Given the description of an element on the screen output the (x, y) to click on. 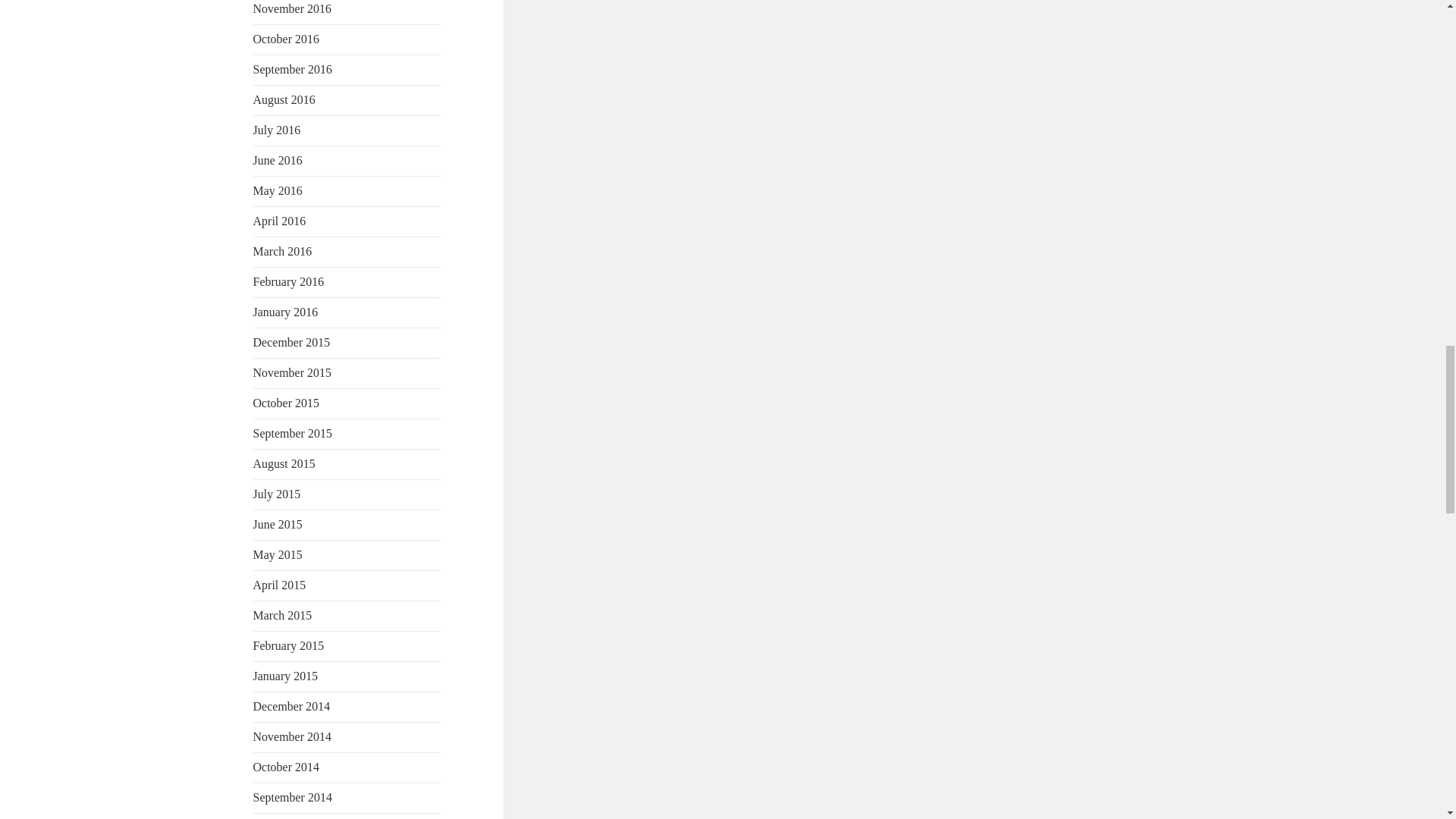
August 2016 (284, 99)
October 2016 (286, 38)
July 2016 (277, 129)
September 2016 (292, 69)
November 2016 (292, 8)
